Given the description of an element on the screen output the (x, y) to click on. 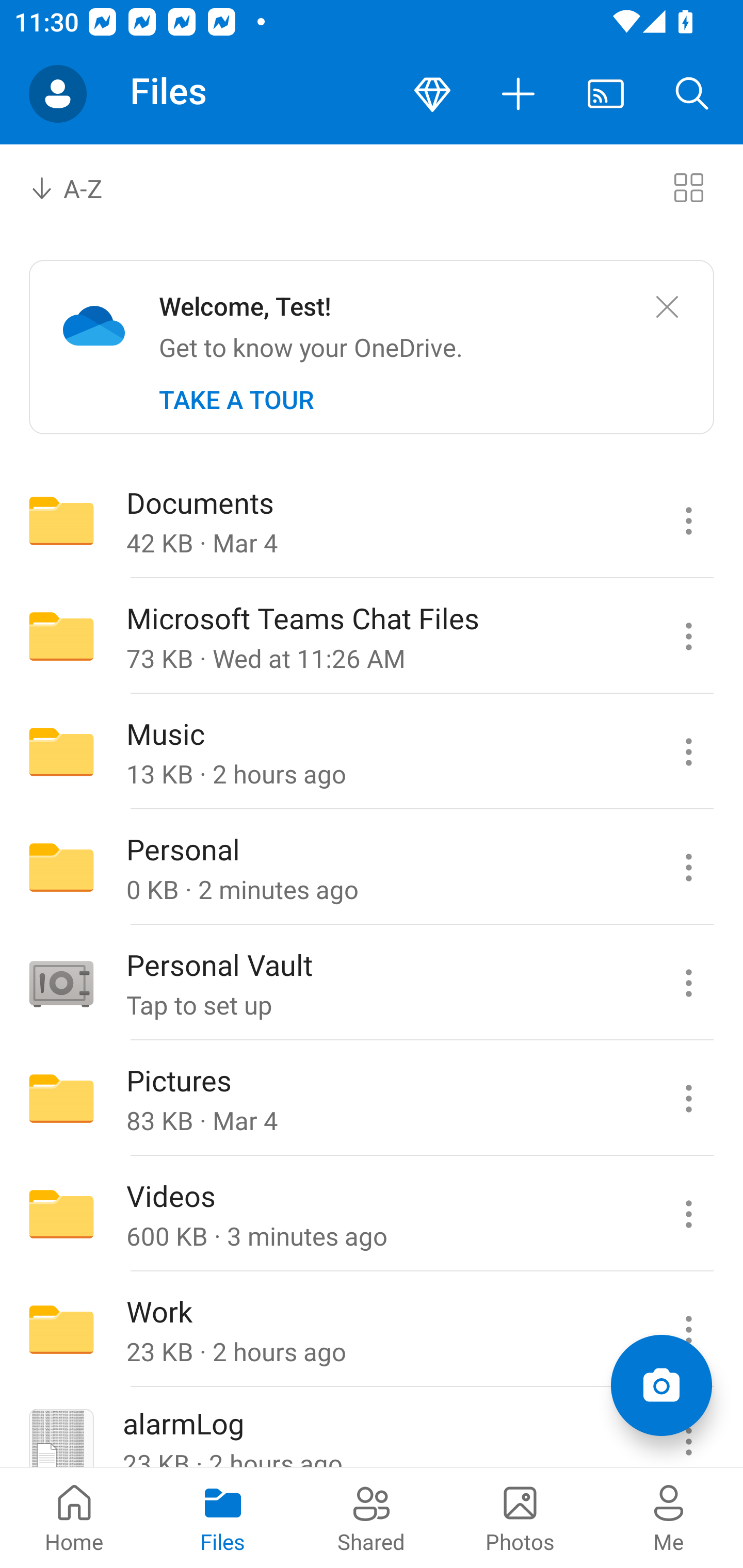
Account switcher (57, 93)
Cast. Disconnected (605, 93)
Premium button (432, 93)
More actions button (518, 93)
Search button (692, 93)
A-Z Sort by combo box, sort by name, A to Z (80, 187)
Switch to tiles view (688, 187)
Close (667, 307)
TAKE A TOUR (236, 399)
Folder Documents 42 KB · Mar 4 Documents commands (371, 520)
Documents commands (688, 520)
Microsoft Teams Chat Files commands (688, 636)
Folder Music 13 KB · 2 hours ago Music commands (371, 751)
Music commands (688, 751)
Personal commands (688, 867)
Personal Vault commands (688, 983)
Folder Pictures 83 KB · Mar 4 Pictures commands (371, 1099)
Pictures commands (688, 1099)
Videos commands (688, 1214)
Folder Work 23 KB · 2 hours ago Work commands (371, 1329)
Work commands (688, 1329)
Add items Scan (660, 1385)
alarmLog commands (688, 1427)
Home pivot Home (74, 1517)
Shared pivot Shared (371, 1517)
Photos pivot Photos (519, 1517)
Me pivot Me (668, 1517)
